Given the description of an element on the screen output the (x, y) to click on. 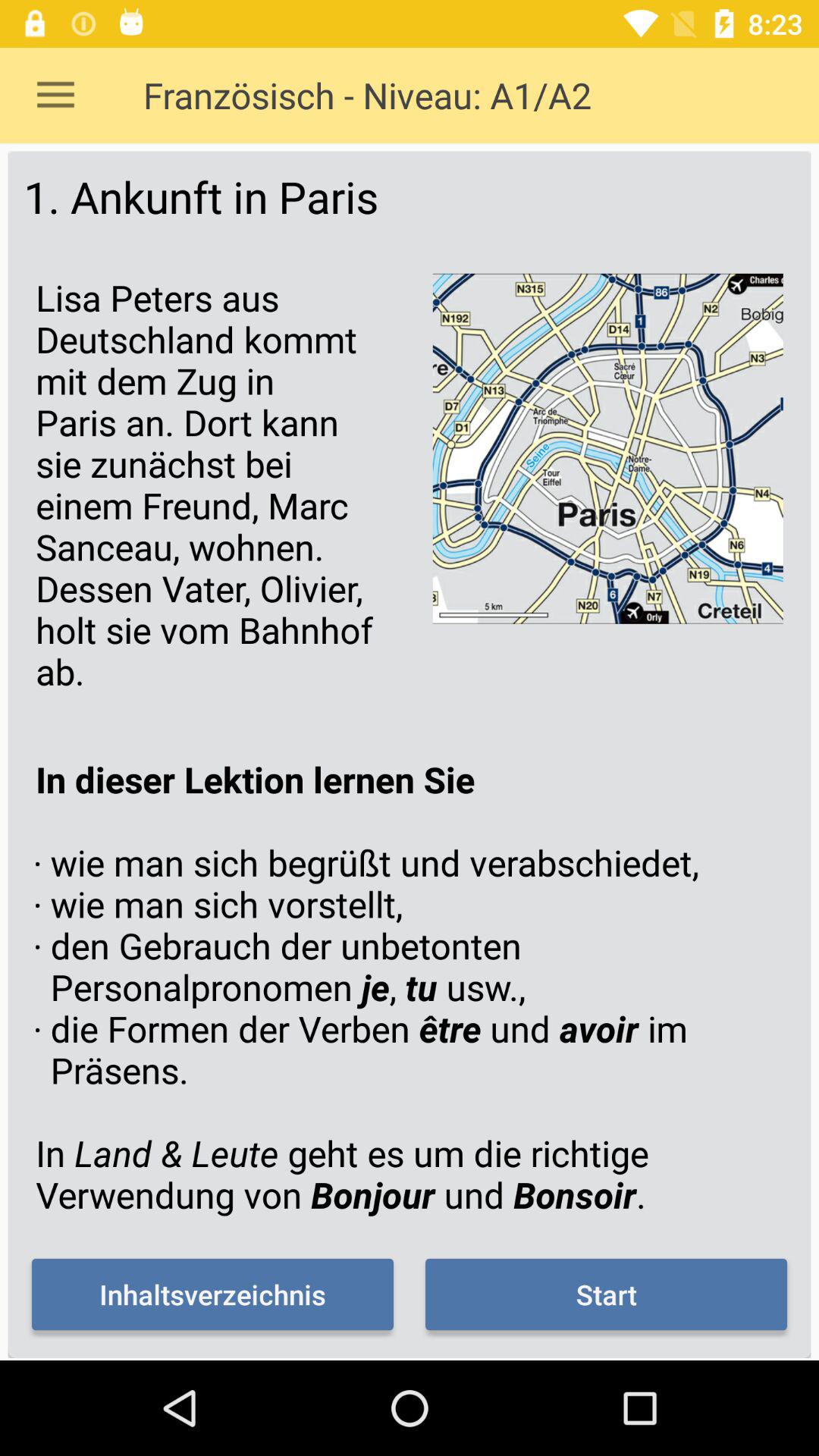
open the icon below the in dieser lektion (212, 1294)
